Given the description of an element on the screen output the (x, y) to click on. 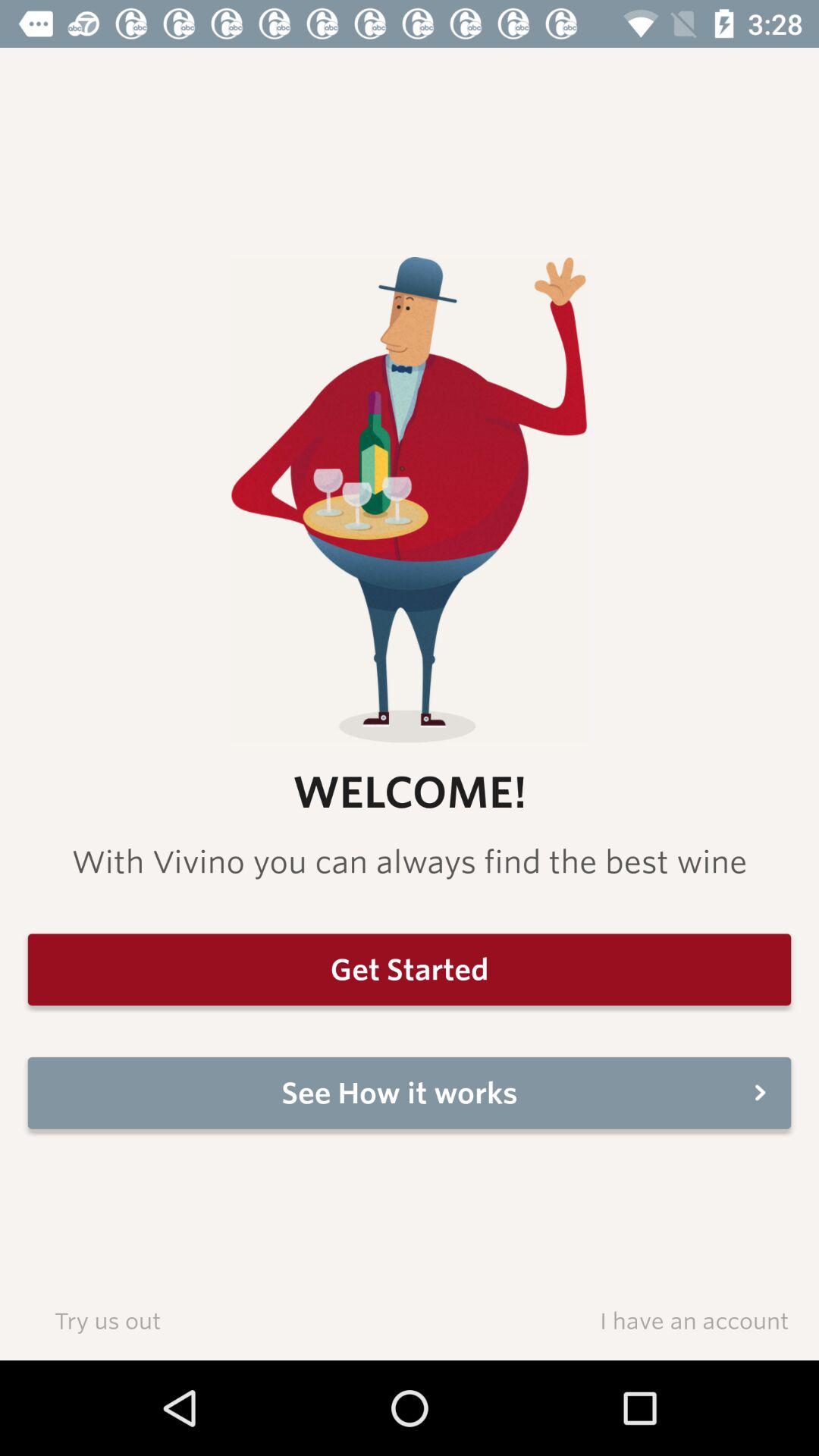
turn off the item at the bottom right corner (694, 1320)
